Given the description of an element on the screen output the (x, y) to click on. 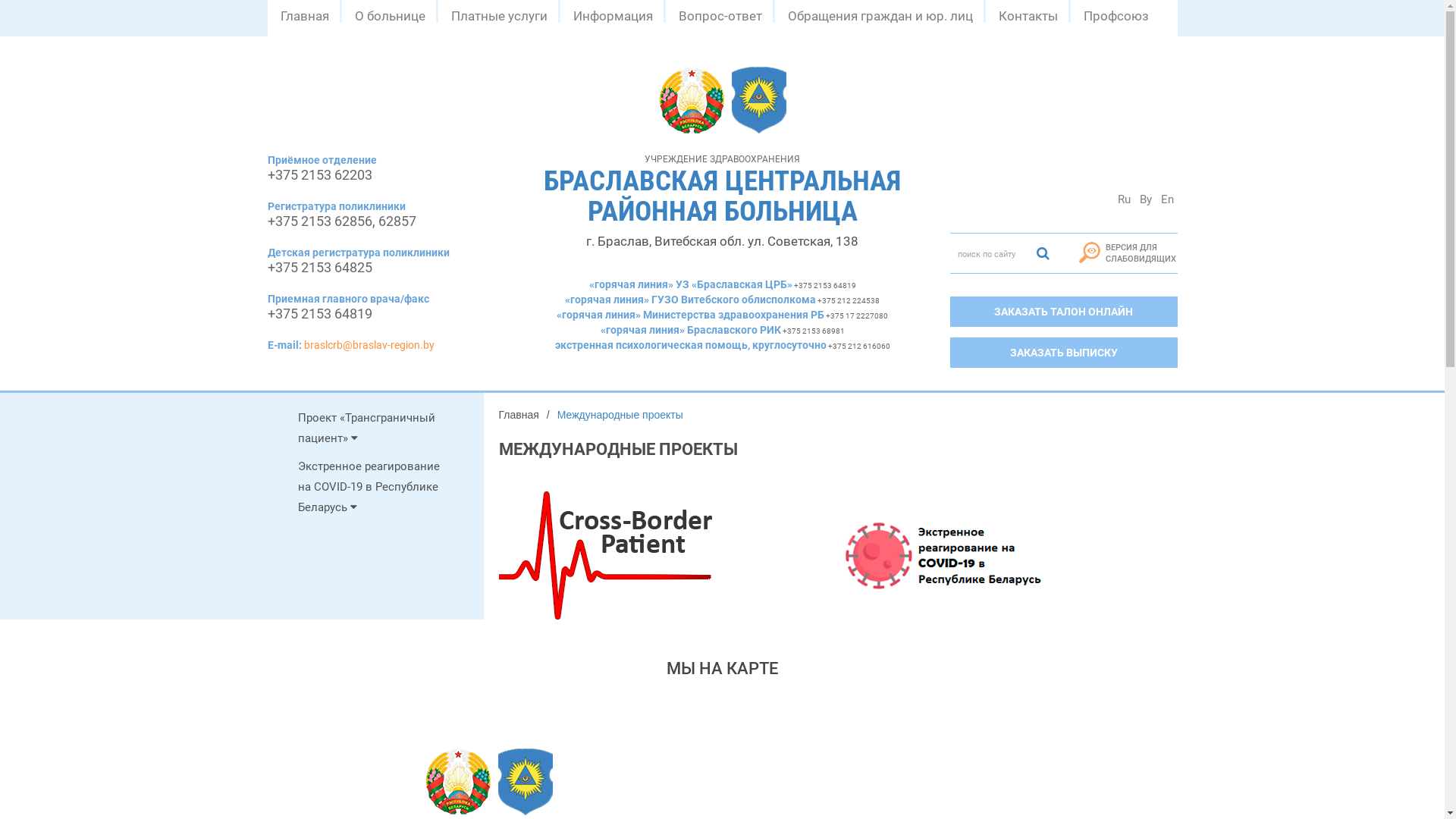
braslcrb@braslav-region.by Element type: text (368, 344)
En Element type: text (1167, 199)
Ru Element type: text (1123, 199)
By Element type: text (1145, 199)
